Given the description of an element on the screen output the (x, y) to click on. 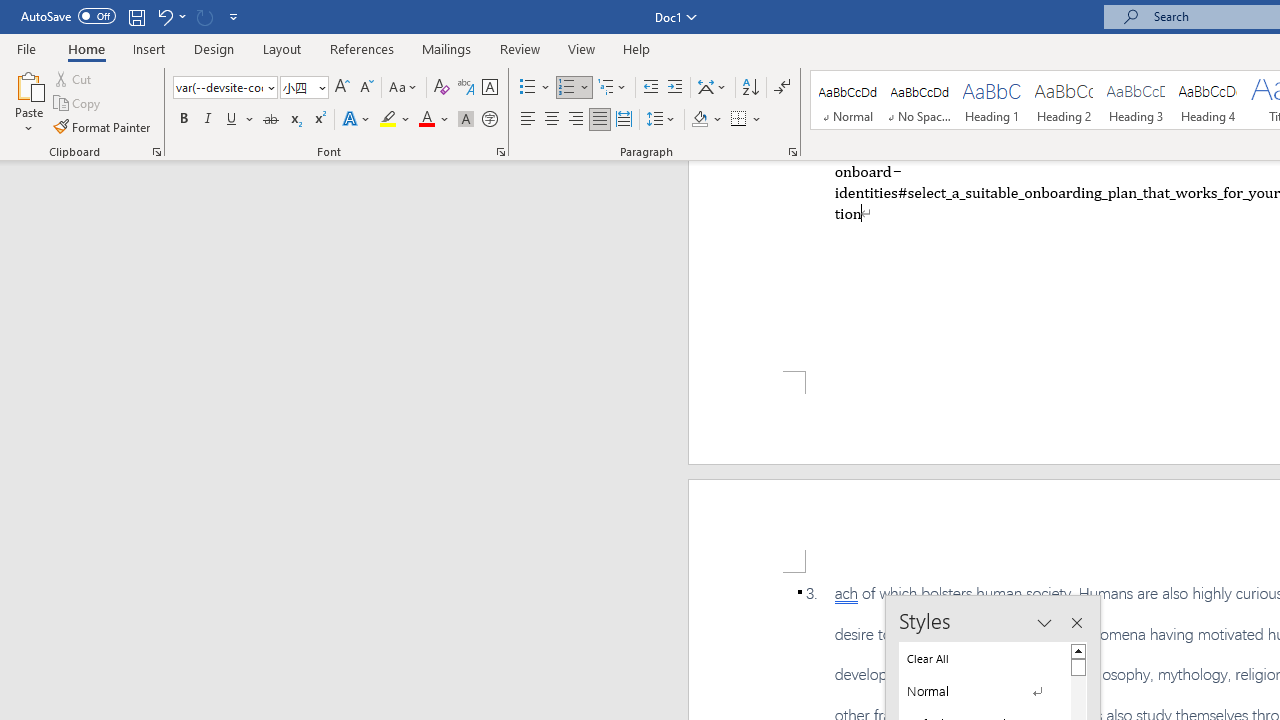
Change Case (404, 87)
Character Shading (465, 119)
Superscript (319, 119)
Bullets (535, 87)
Font Size (304, 87)
More Options (757, 119)
Multilevel List (613, 87)
Font Color (434, 119)
Increase Indent (675, 87)
